Given the description of an element on the screen output the (x, y) to click on. 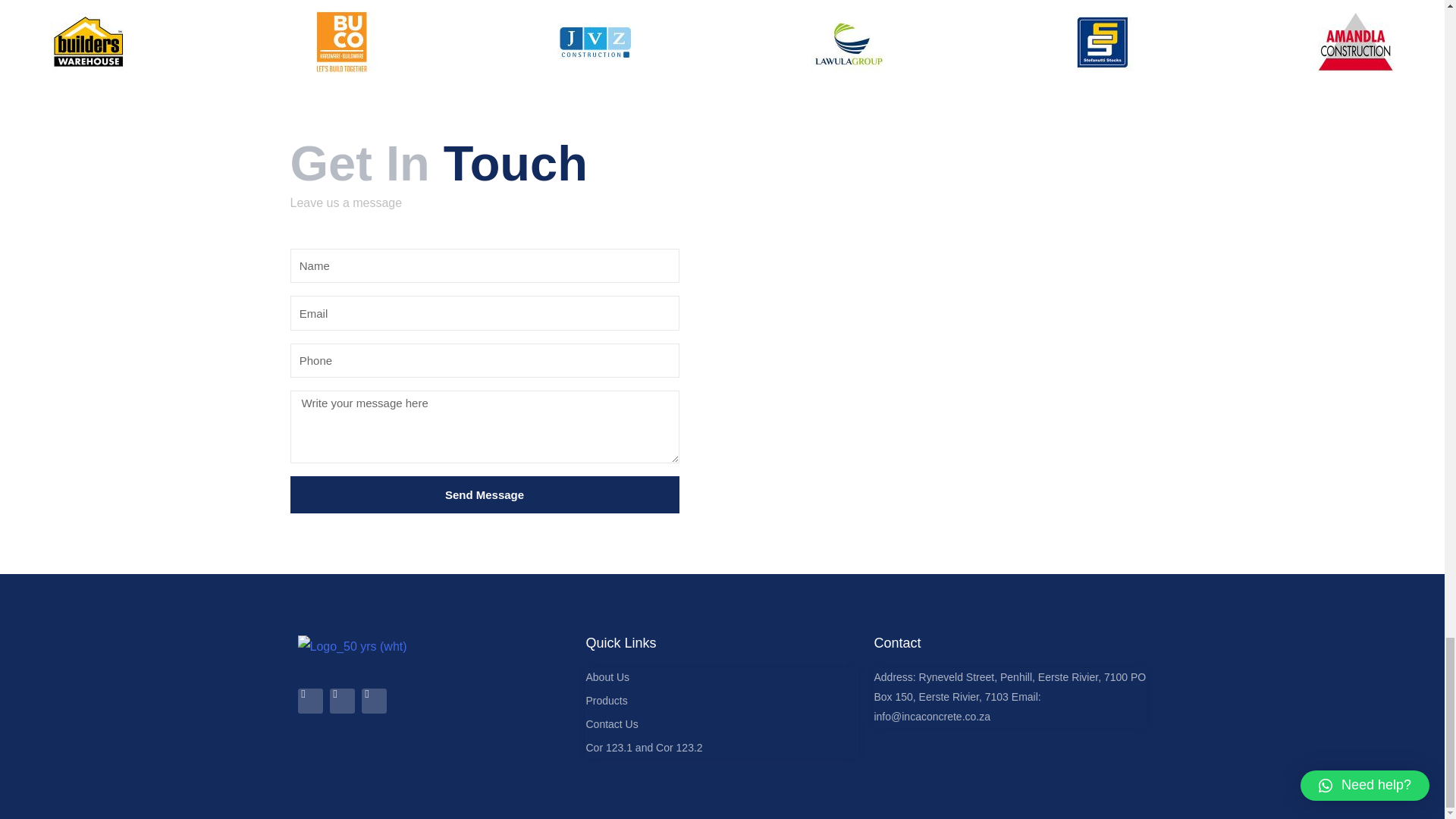
About Us (722, 677)
Linkedin (373, 700)
Instagram (341, 700)
Facebook-f (309, 700)
Contact Us (722, 724)
Send Message (483, 494)
Products (722, 701)
